Given the description of an element on the screen output the (x, y) to click on. 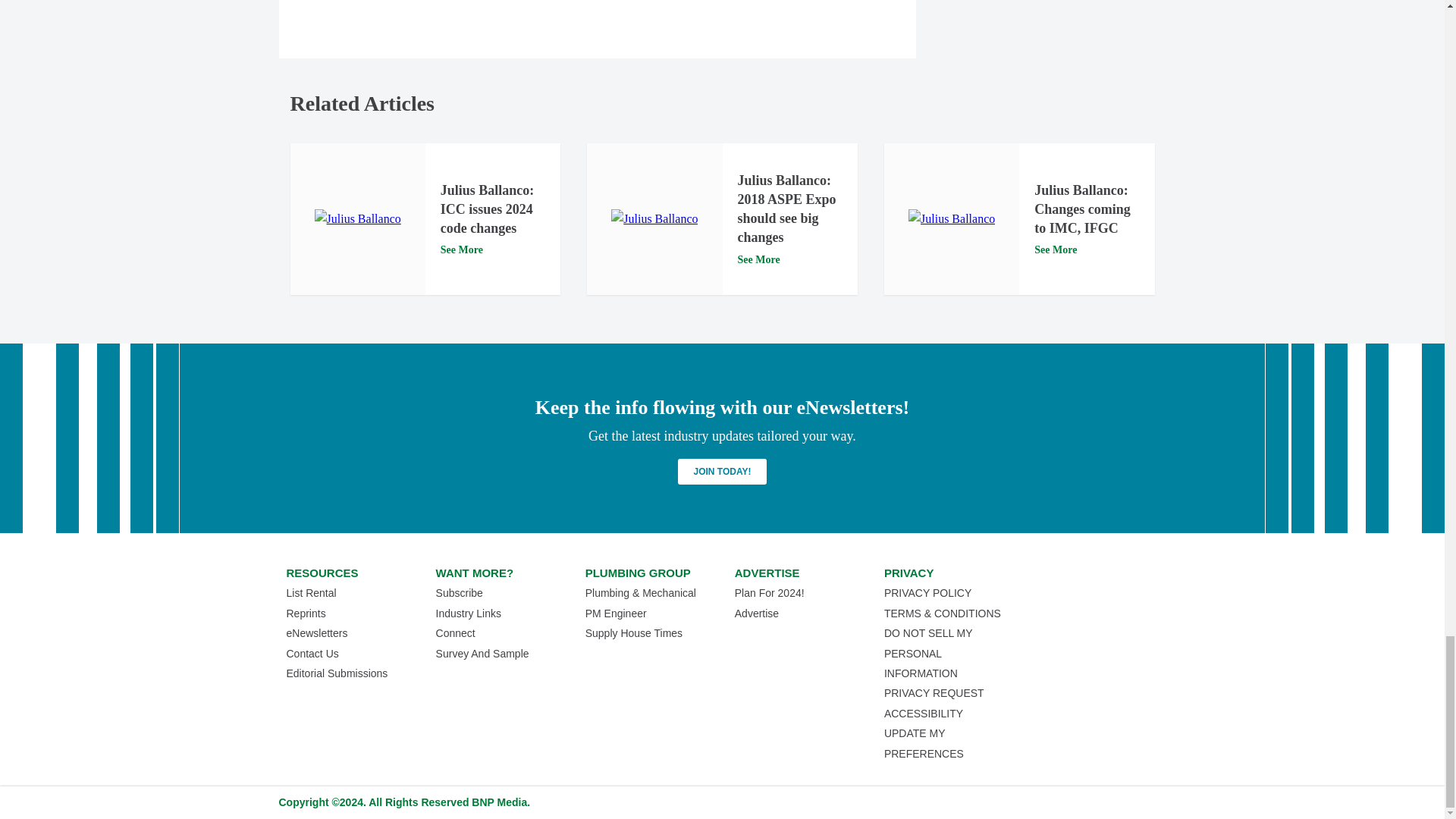
Julius Ballanco (357, 219)
Julius Ballanco (654, 219)
Julius Ballanco (951, 219)
